Given the description of an element on the screen output the (x, y) to click on. 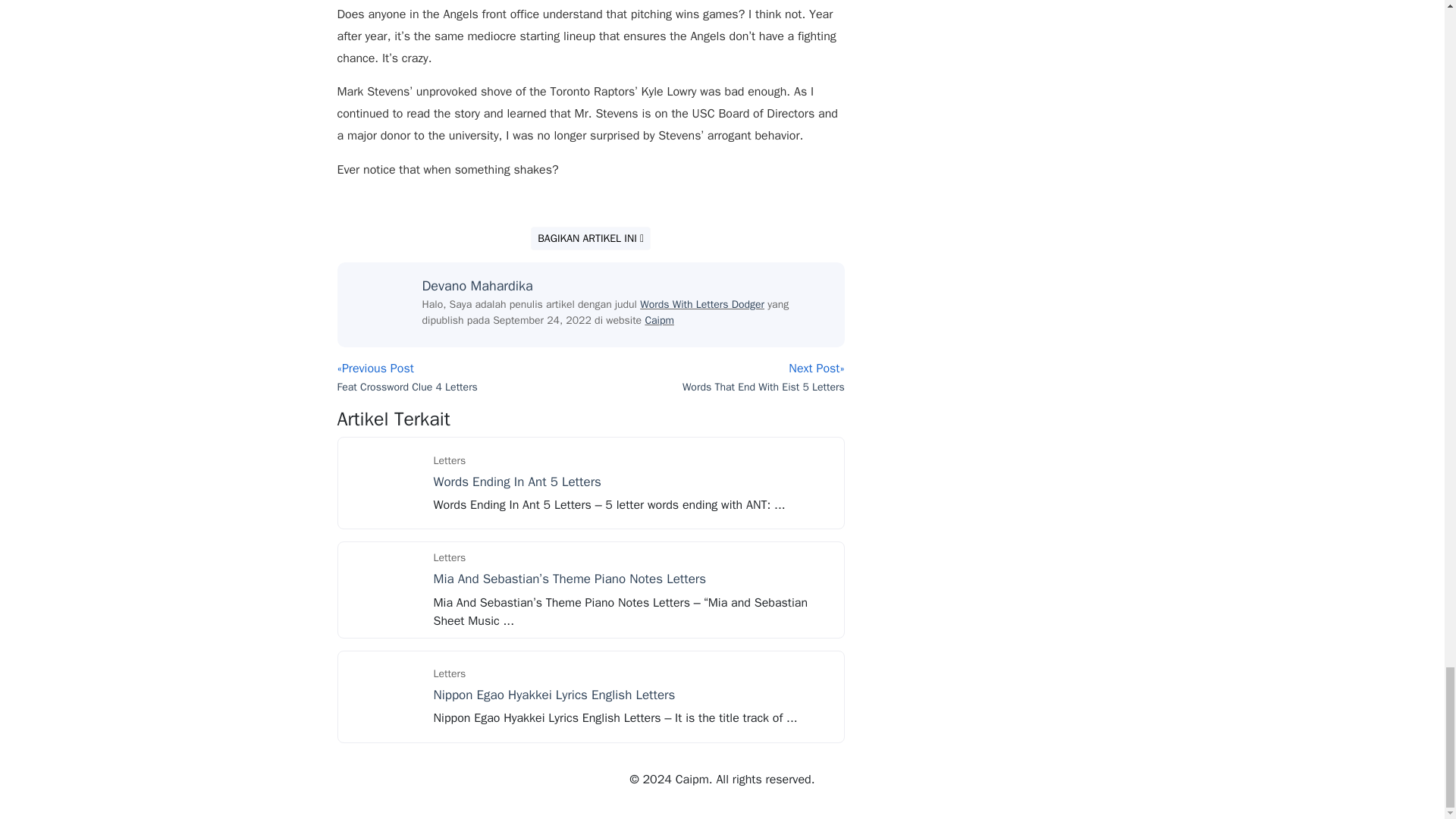
Words With Letters Dodger (702, 304)
Devano Mahardika (477, 285)
Letters (449, 460)
Words Ending In Ant 5 Letters (517, 481)
Letters (449, 557)
Nippon Egao Hyakkei Lyrics English Letters (554, 694)
Caipm (659, 319)
Caipm (659, 319)
Letters (449, 673)
Words With Letters Dodger (702, 304)
